Given the description of an element on the screen output the (x, y) to click on. 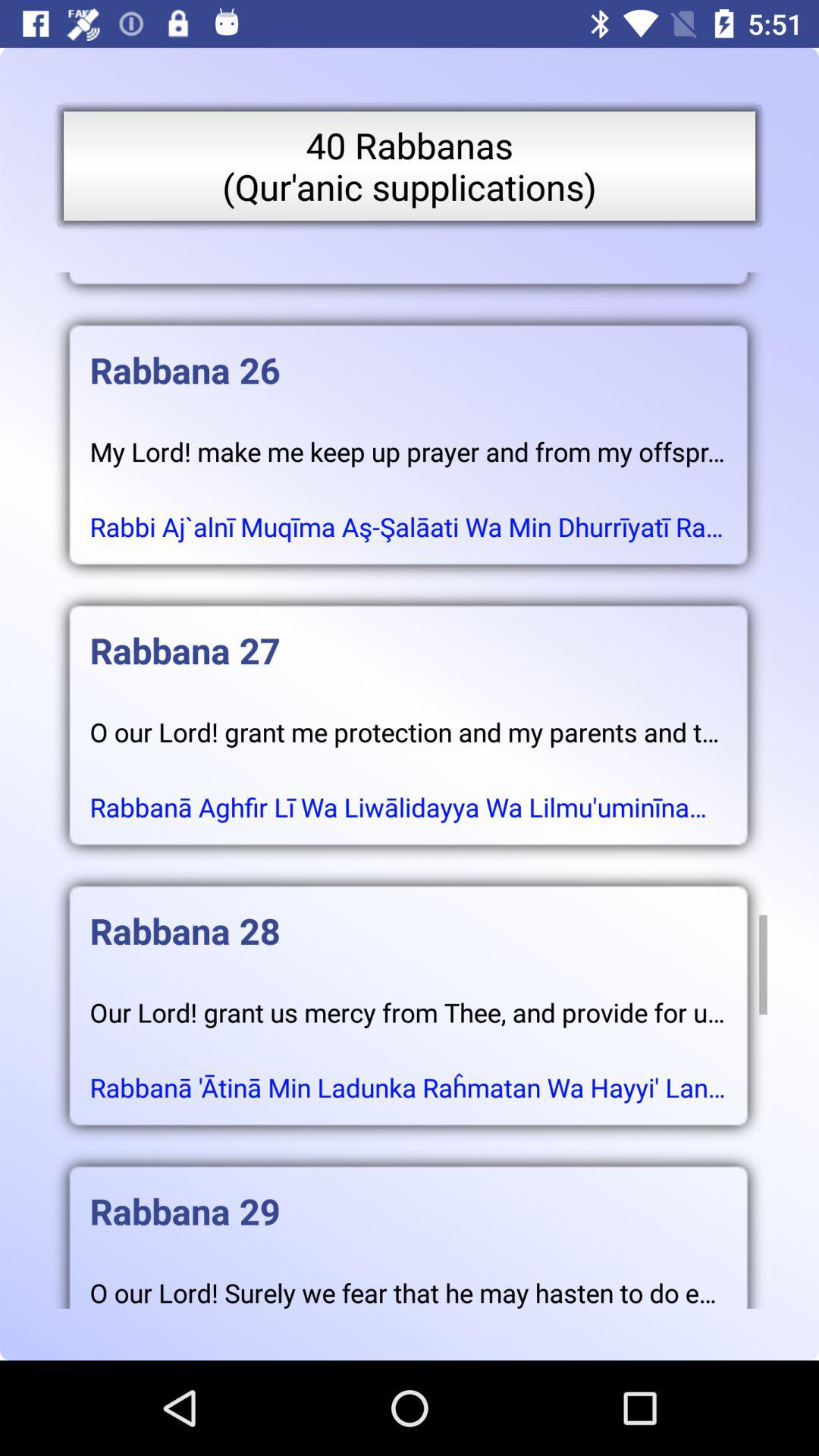
swipe until the rabbana 29 (408, 1196)
